Given the description of an element on the screen output the (x, y) to click on. 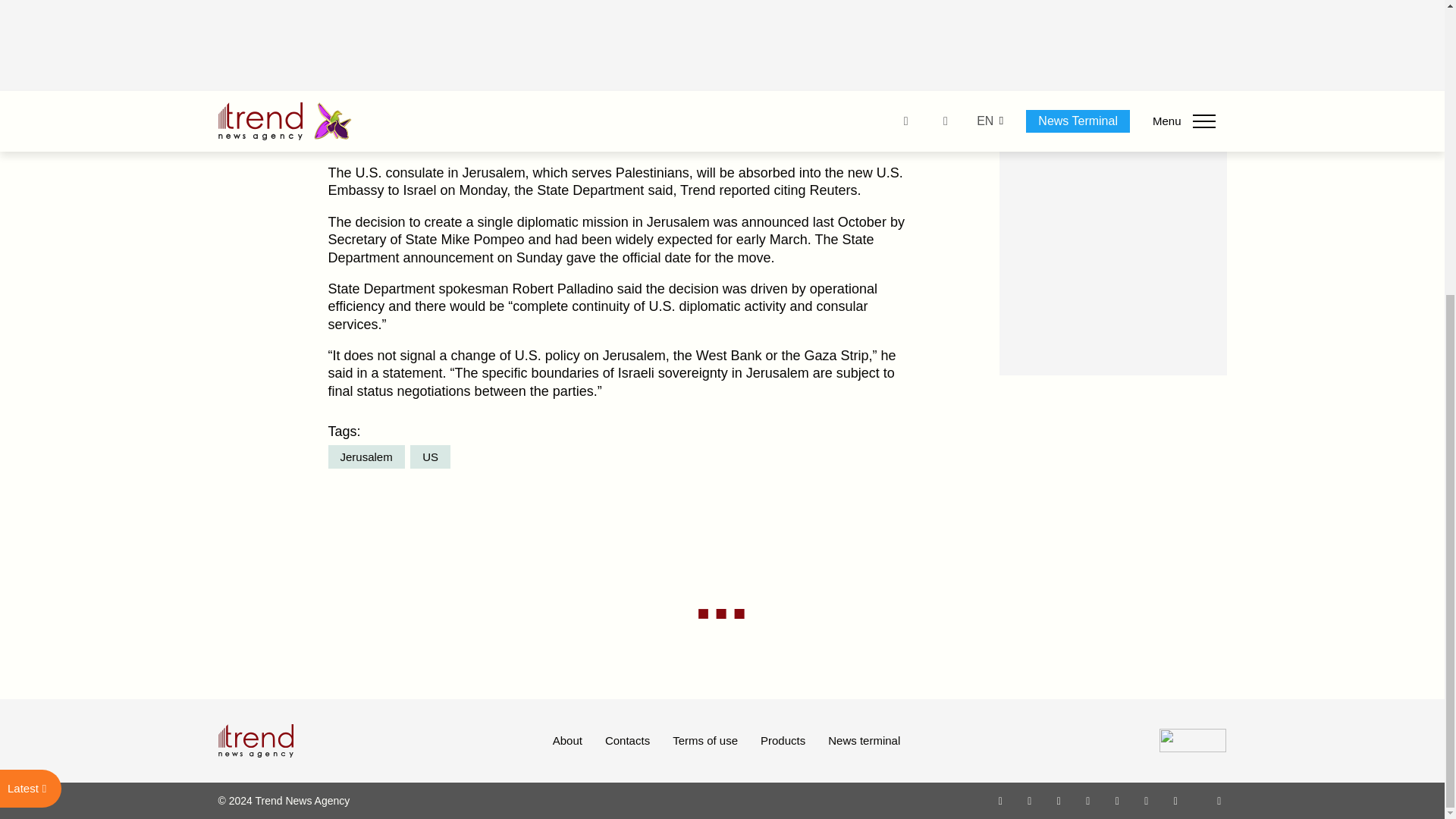
Telegram (1117, 800)
RSS Feed (1219, 800)
LinkedIn (1146, 800)
Twitter (1059, 800)
Whatsapp (1000, 800)
Android App (1176, 800)
Youtube (1088, 800)
Facebook (1029, 800)
